Given the description of an element on the screen output the (x, y) to click on. 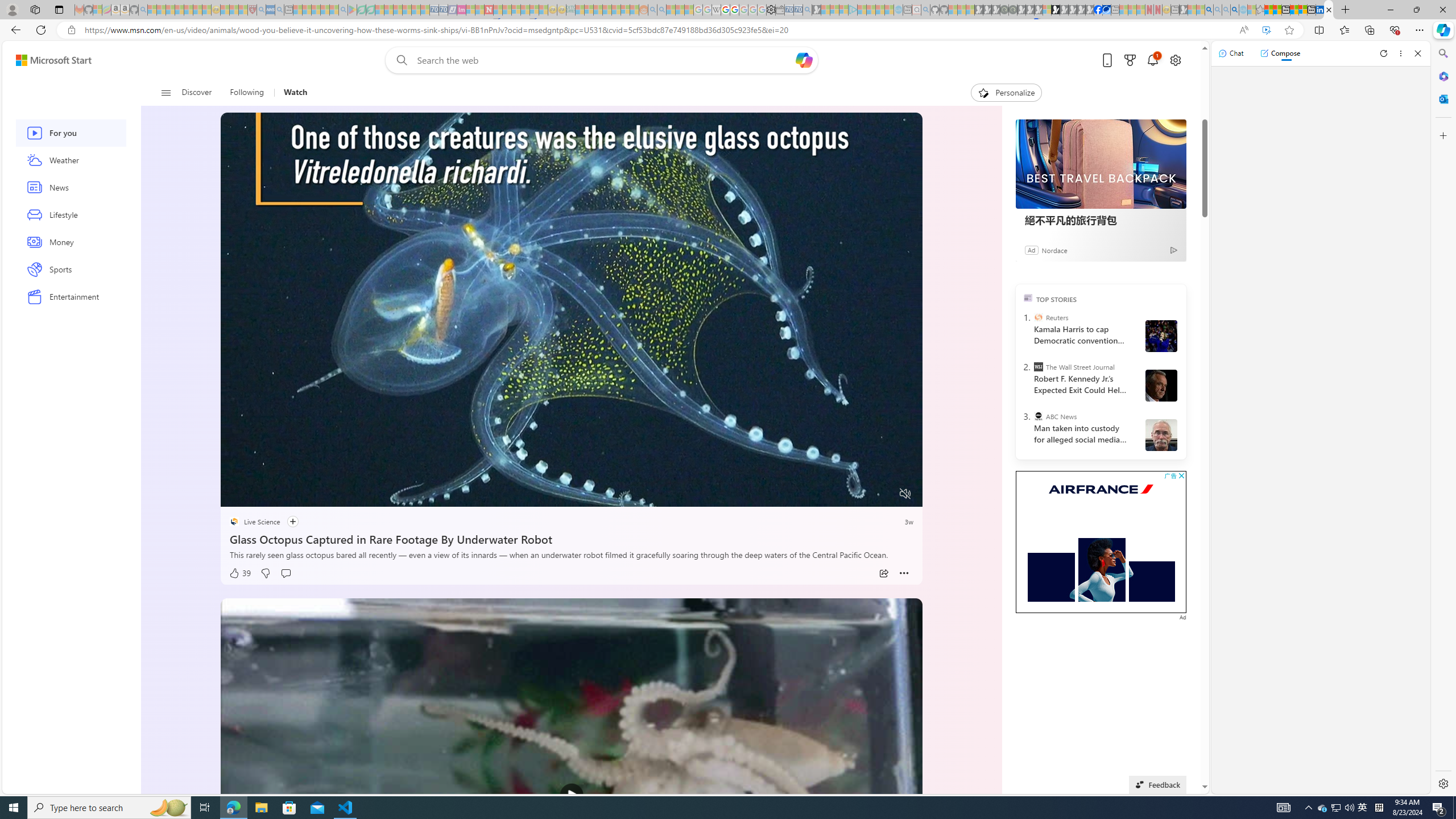
Jobs - lastminute.com Investor Portal - Sleeping (461, 9)
Pause (236, 493)
Latest Politics News & Archive | Newsweek.com - Sleeping (488, 9)
Target page - Wikipedia - Sleeping (716, 9)
Open navigation menu (164, 92)
